Given the description of an element on the screen output the (x, y) to click on. 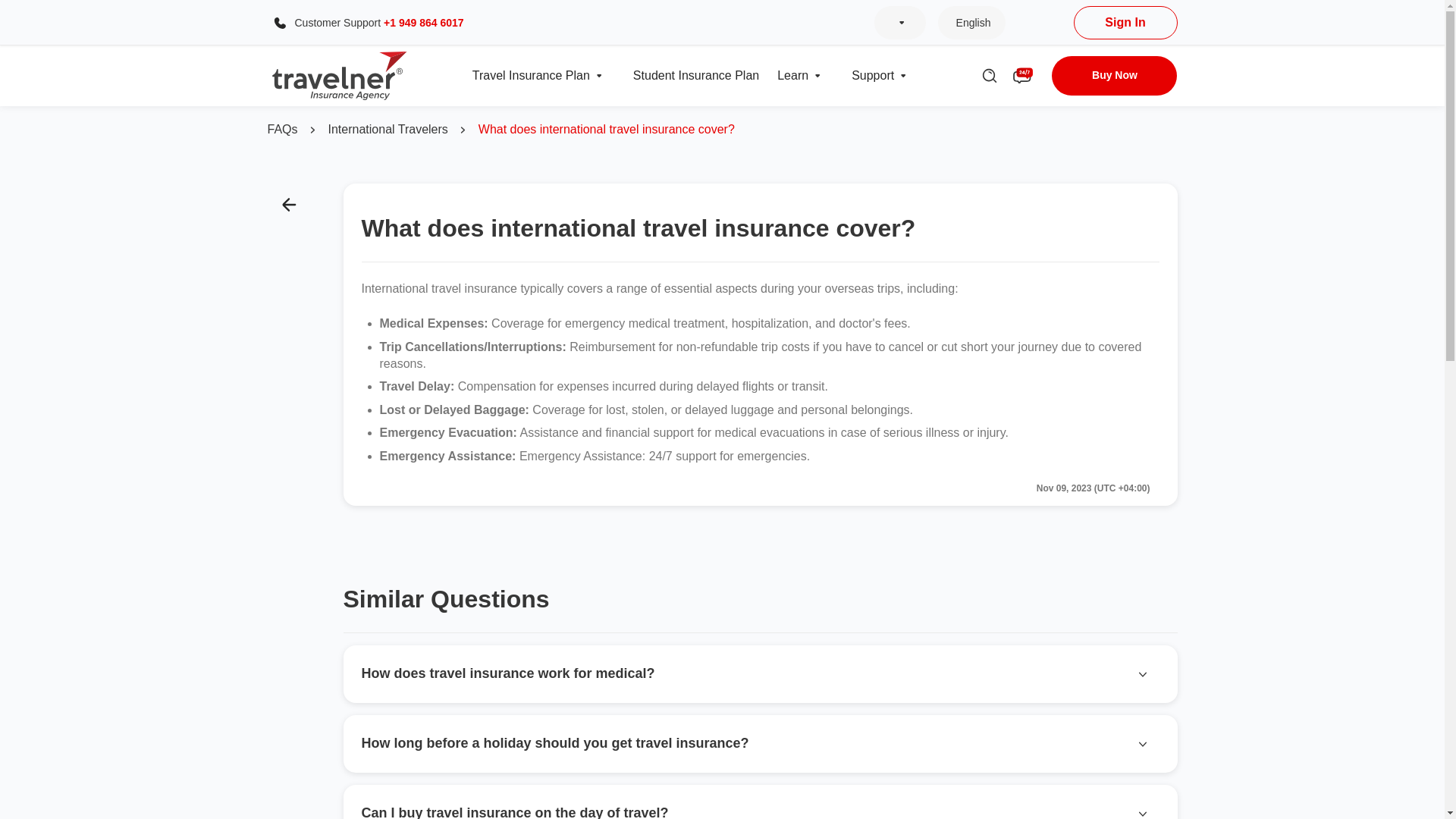
Learn (792, 75)
Buy Now (1113, 75)
Support (872, 75)
Sign In (1125, 22)
Sign In (1125, 22)
Travelner (339, 75)
Learn (792, 75)
Show More (901, 22)
Travel Insurance Plan (530, 75)
Student Insurance Plan (695, 75)
Travel Insurance Plan (530, 75)
Customer Support (278, 22)
Student Insurance Plan (695, 75)
Travel Insurance Plan (598, 75)
Learn (817, 75)
